Given the description of an element on the screen output the (x, y) to click on. 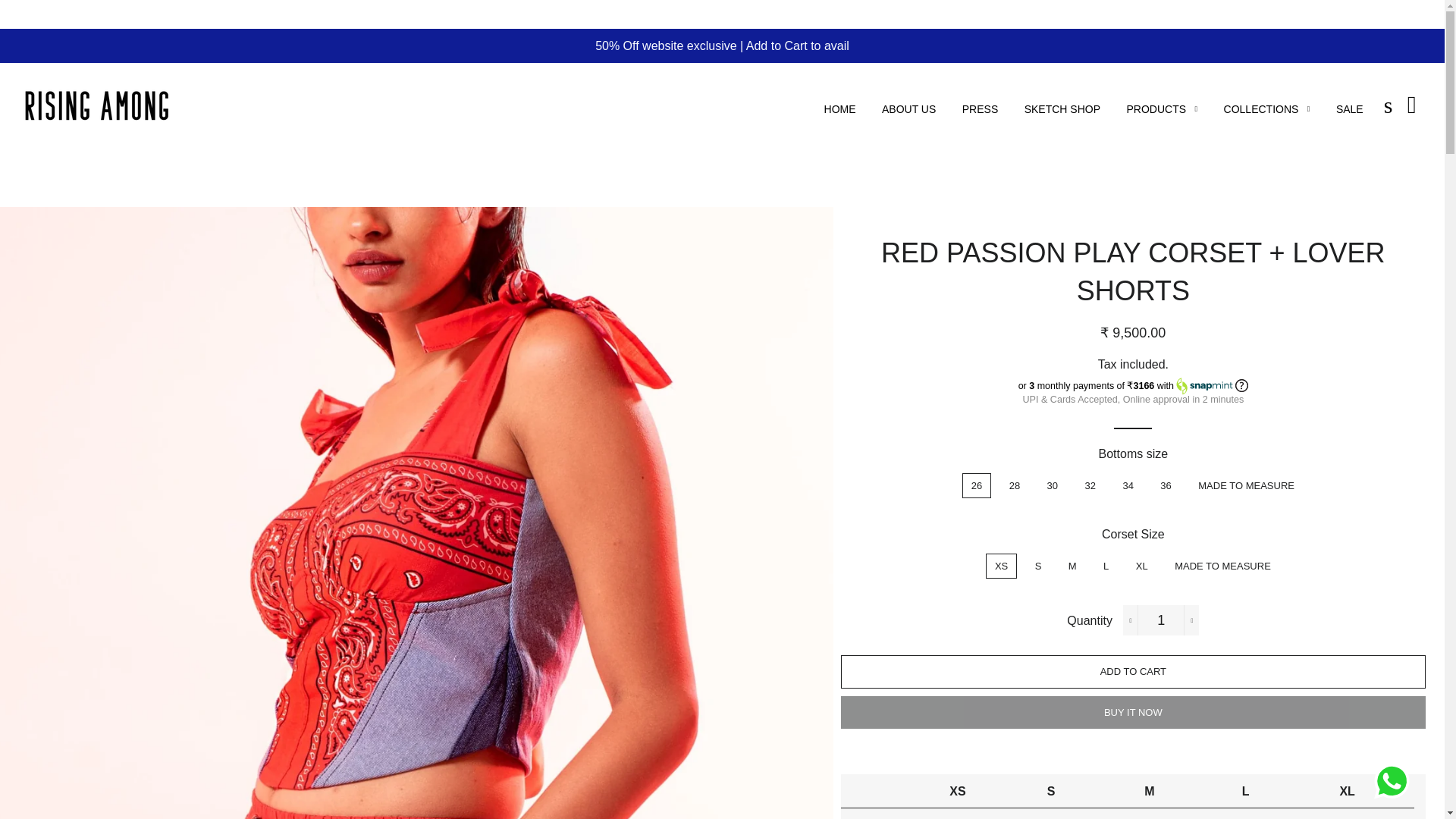
1 (1160, 620)
HOME (839, 109)
ABOUT US (908, 109)
PRESS (979, 109)
